Given the description of an element on the screen output the (x, y) to click on. 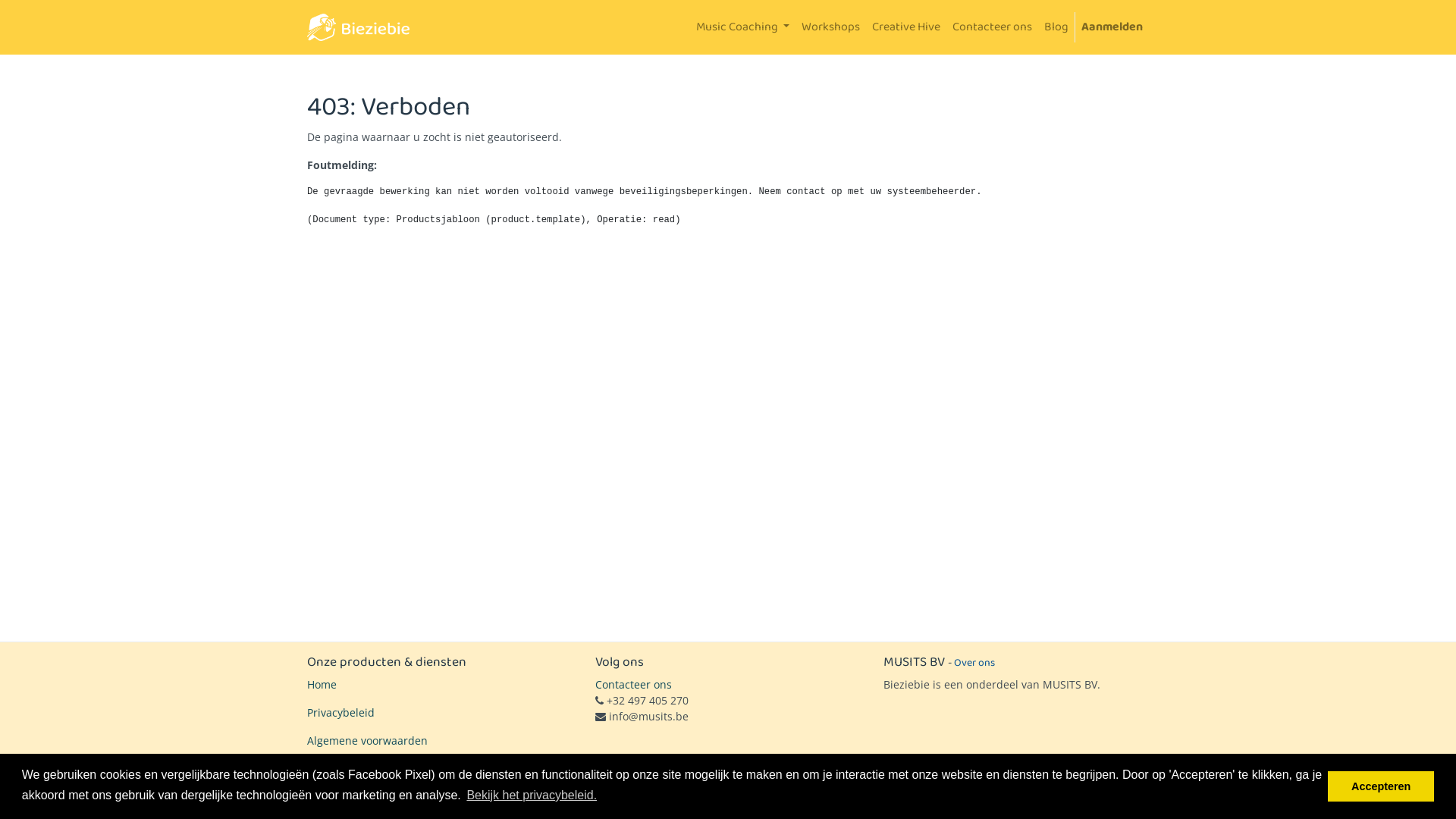
Algemene voorwaarden Element type: text (367, 740)
Workshops Element type: text (830, 27)
Open source e-commerce Element type: text (1082, 792)
Accepteren Element type: text (1380, 786)
Over ons Element type: text (973, 662)
Aanmelden Element type: text (1111, 27)
Bieziebie Element type: hover (358, 27)
Bekijk het privacybeleid. Element type: text (531, 795)
Contacteer ons Element type: text (633, 684)
Contacteer ons Element type: text (992, 27)
Home Element type: text (321, 684)
Blog Element type: text (1056, 27)
Music Coaching Element type: text (742, 27)
Privacybeleid Element type: text (340, 712)
Creative Hive Element type: text (906, 27)
